Given the description of an element on the screen output the (x, y) to click on. 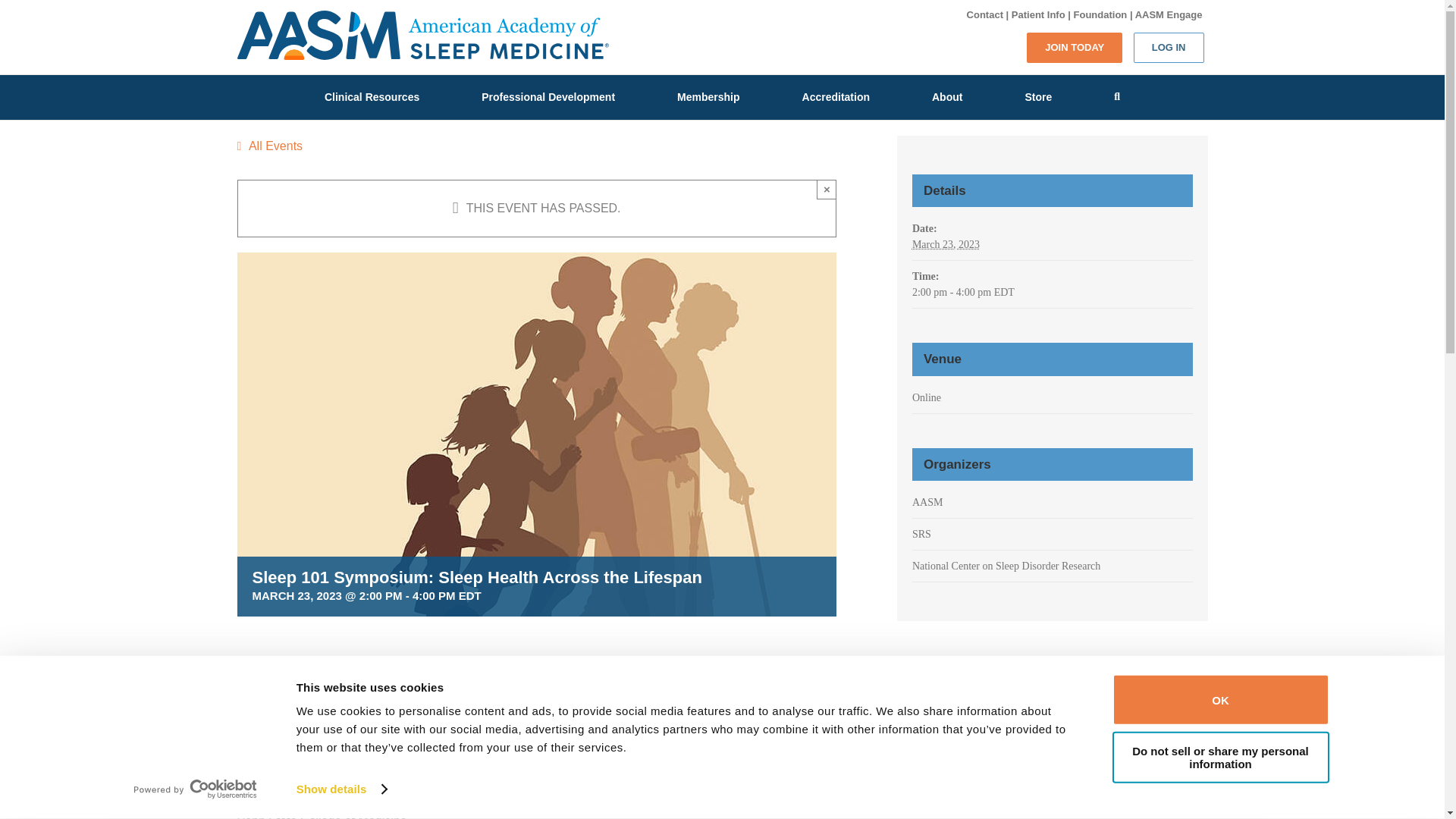
Show details (341, 789)
